Given the description of an element on the screen output the (x, y) to click on. 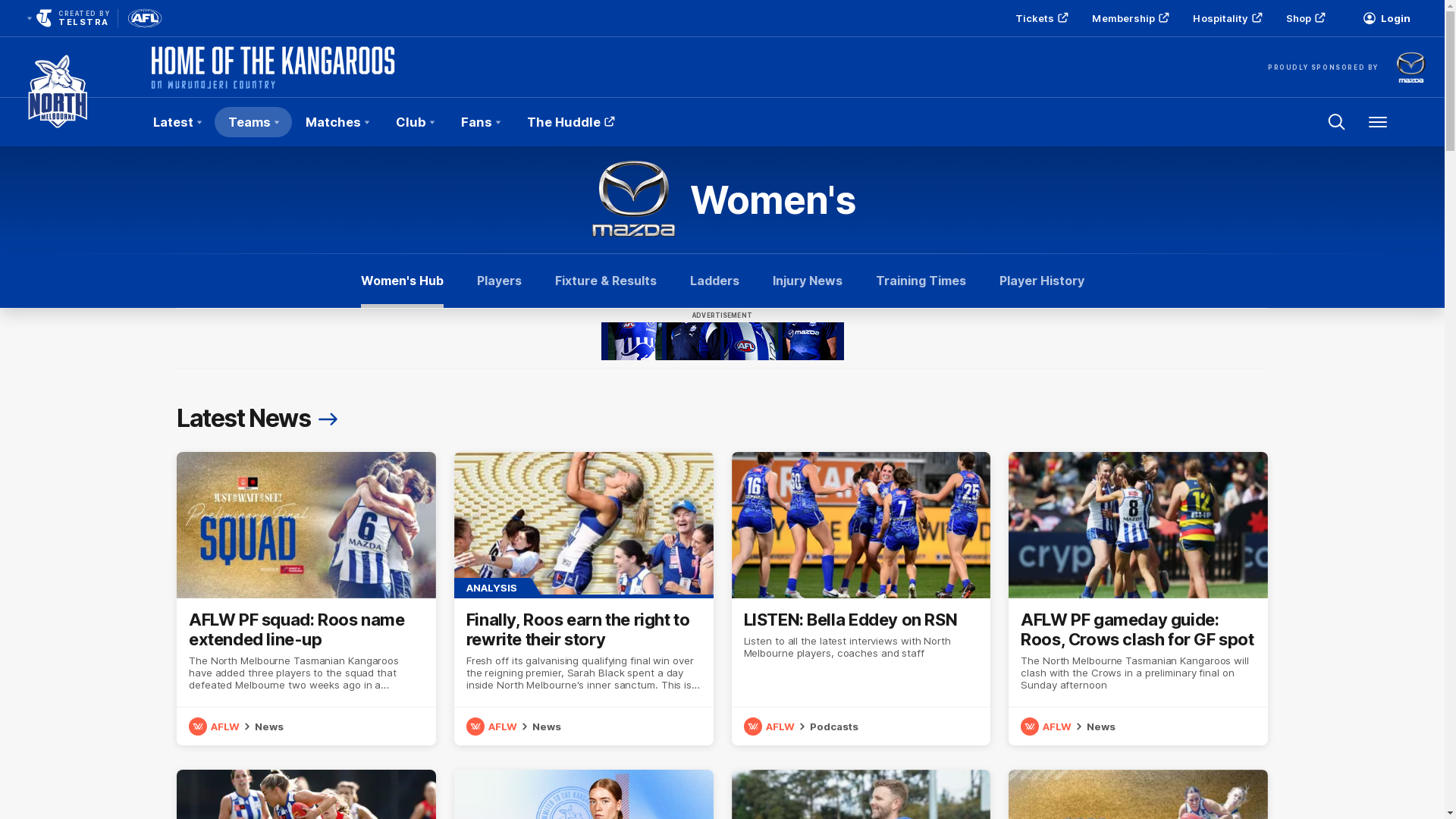
Latest News Element type: text (259, 418)
Training Times Element type: text (920, 280)
Login Element type: text (1386, 18)
AFLW Element type: text (770, 726)
Matches Element type: text (336, 121)
AFLW PF gameday guide: Roos, Crows clash for GF spot Element type: hover (1137, 598)
Player History Element type: text (1041, 280)
Fans Element type: text (480, 121)
Shop Element type: text (1303, 18)
Membership Element type: text (1128, 18)
AFLW Element type: text (215, 726)
Latest Element type: text (176, 121)
CREATED BY
TELSTRA Element type: text (66, 18)
Menu Element type: text (1377, 121)
Club Element type: text (414, 121)
Fixture & Results Element type: text (605, 280)
AFLW Element type: text (493, 726)
Podcasts Element type: text (833, 726)
Tickets Element type: text (1040, 18)
3rd party ad content Element type: hover (721, 341)
Women's Hub Element type: text (401, 280)
News Element type: text (1100, 726)
Club Logo Element type: text (57, 121)
Ladders Element type: text (714, 280)
Teams Element type: text (252, 121)
Hospitality Element type: text (1225, 18)
The Huddle Element type: text (568, 121)
Players Element type: text (498, 280)
Injury News Element type: text (806, 280)
News Element type: text (268, 726)
AFLW PF squad: Roos name extended line-up Element type: hover (306, 598)
LISTEN: Bella Eddey on RSN Element type: hover (860, 598)
News Element type: text (546, 726)
AFLW Element type: text (1047, 726)
Finally, Roos earn the right to rewrite their story Element type: hover (583, 598)
